Given the description of an element on the screen output the (x, y) to click on. 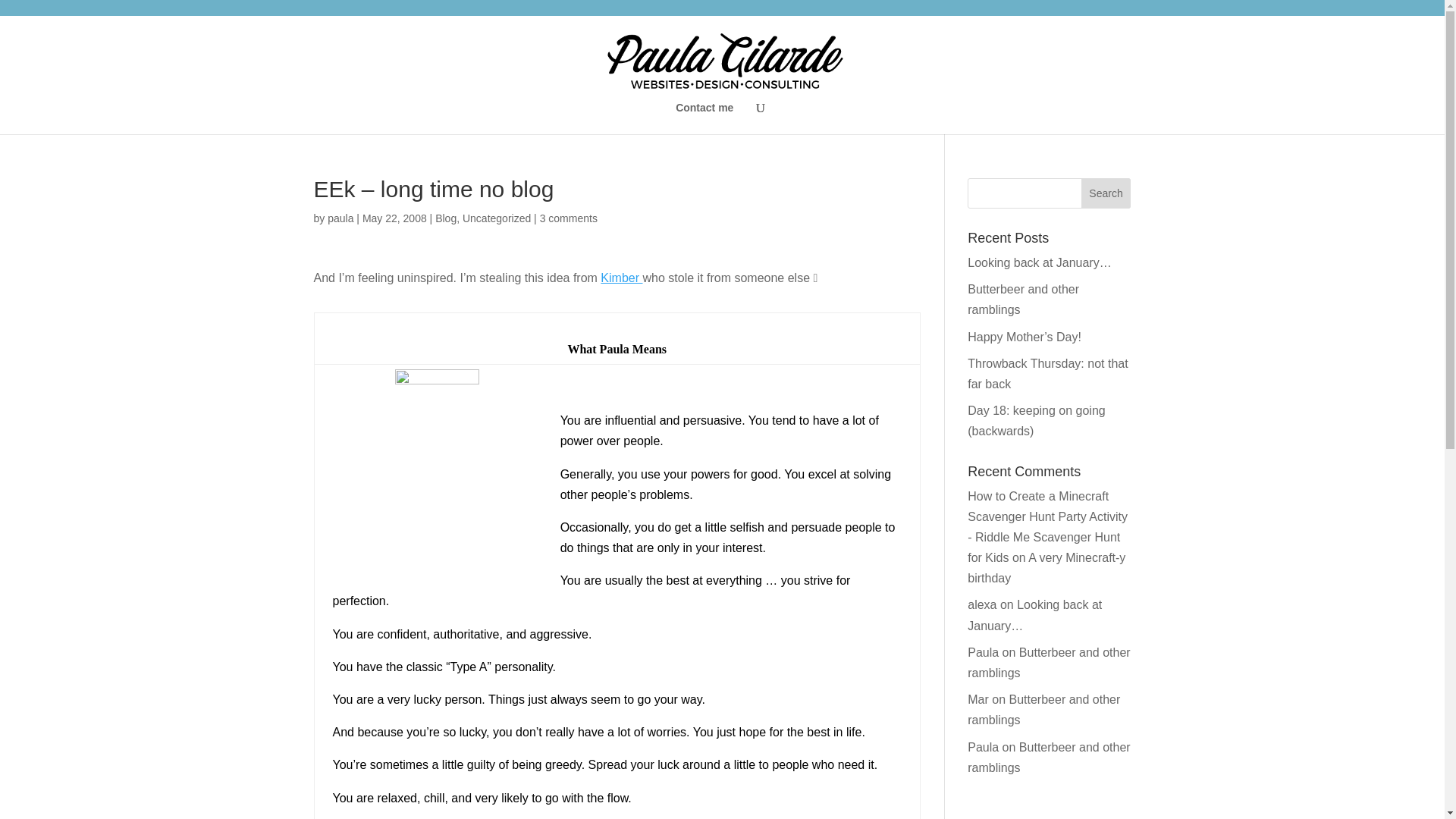
Throwback Thursday: not that far back (1047, 373)
Posts by paula (340, 218)
Butterbeer and other ramblings (1043, 709)
Butterbeer and other ramblings (1023, 299)
Search (1106, 193)
Contact me (704, 118)
Butterbeer and other ramblings (1048, 757)
alexa (981, 604)
A very Minecraft-y birthday (1046, 567)
Search (1106, 193)
Butterbeer and other ramblings (1048, 662)
Blog (446, 218)
Uncategorized (497, 218)
3 comments (568, 218)
